Given the description of an element on the screen output the (x, y) to click on. 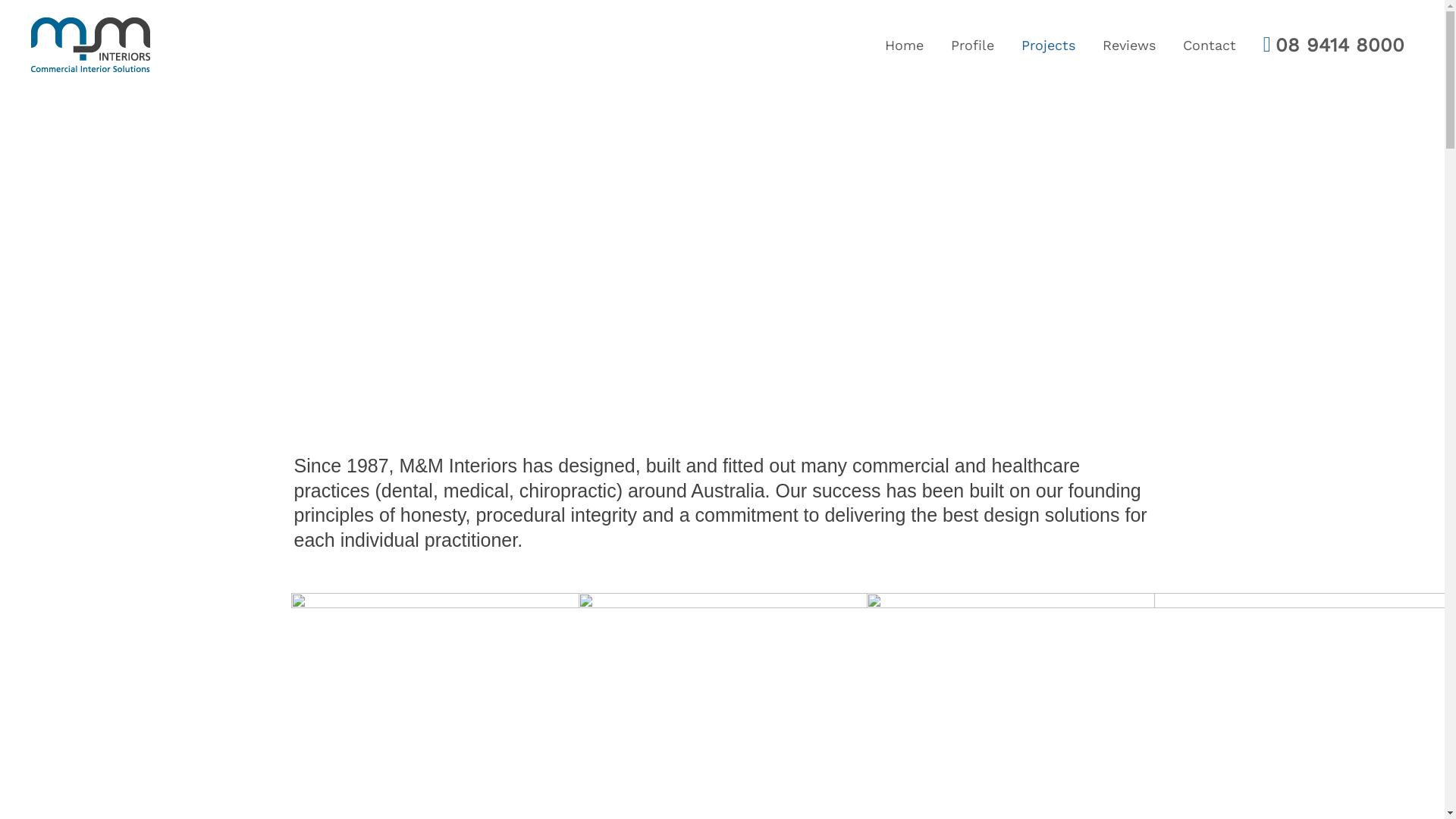
08 9414 8000 Element type: text (1333, 46)
Reviews Element type: text (1128, 45)
Profile Element type: text (972, 45)
Contact Element type: text (1209, 45)
Projects Element type: text (1047, 45)
Home Element type: text (904, 45)
